Given the description of an element on the screen output the (x, y) to click on. 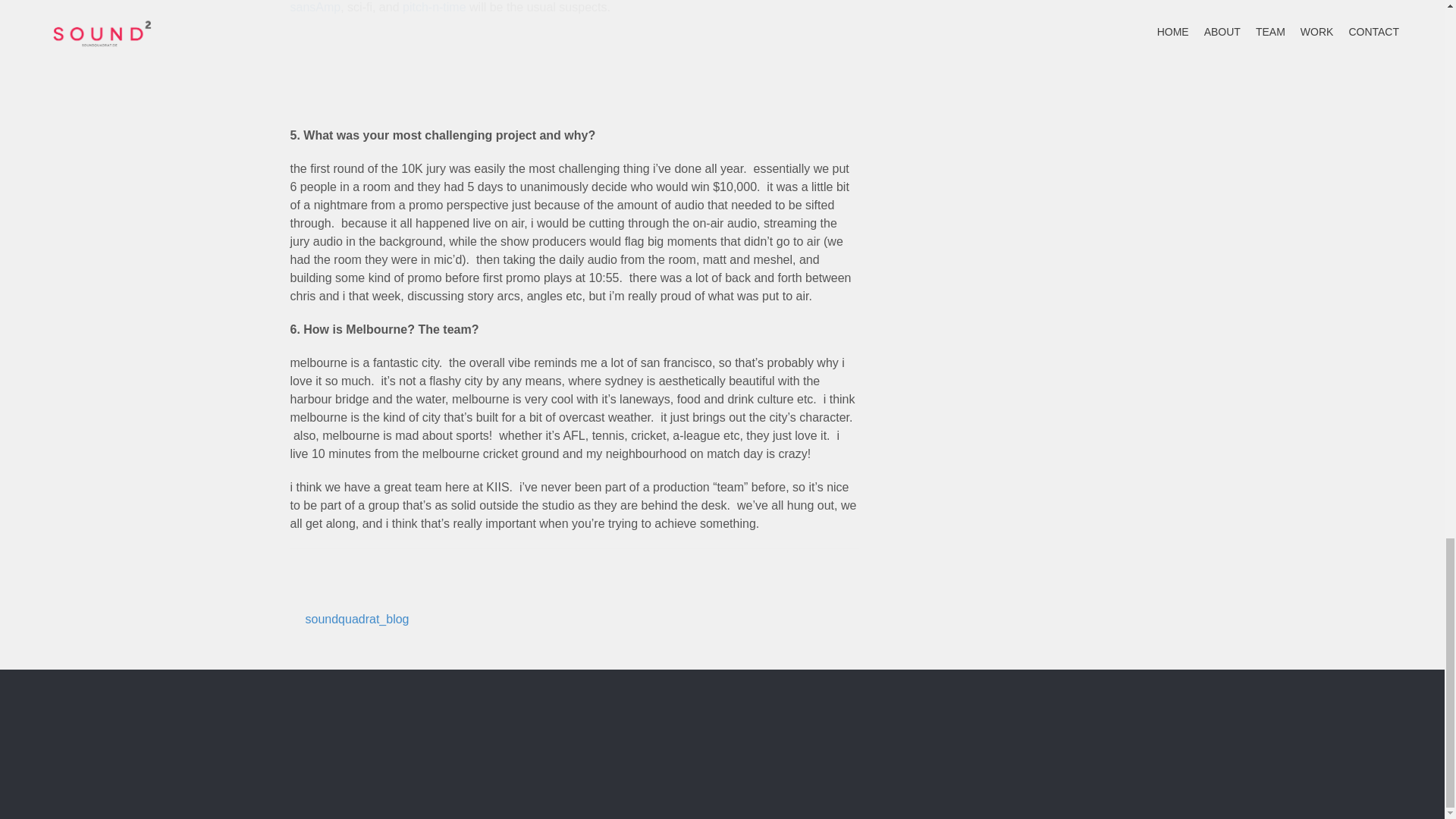
sansAmp (314, 6)
pitch-n-time (434, 6)
